Given the description of an element on the screen output the (x, y) to click on. 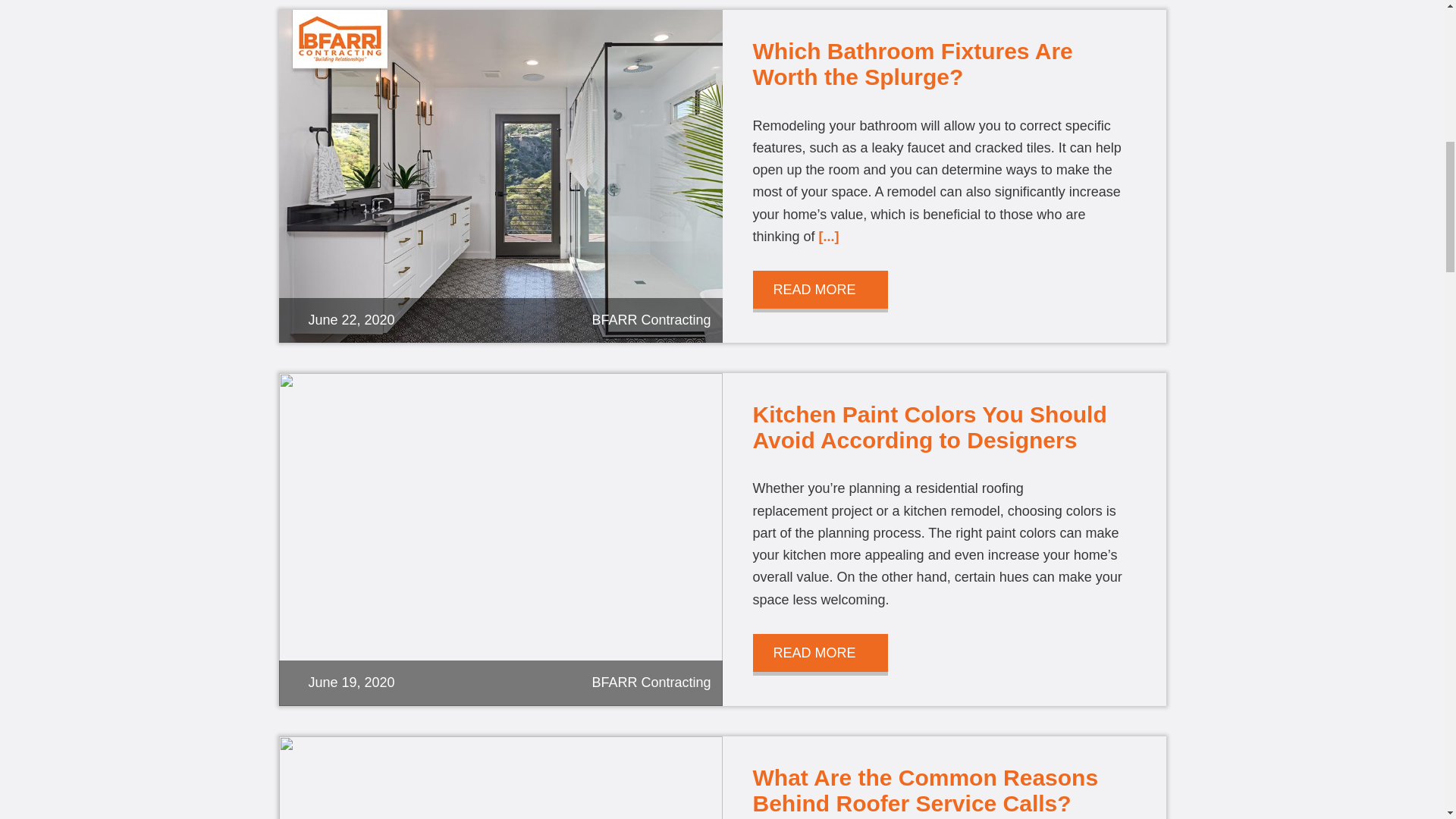
file.jpg (500, 777)
